Given the description of an element on the screen output the (x, y) to click on. 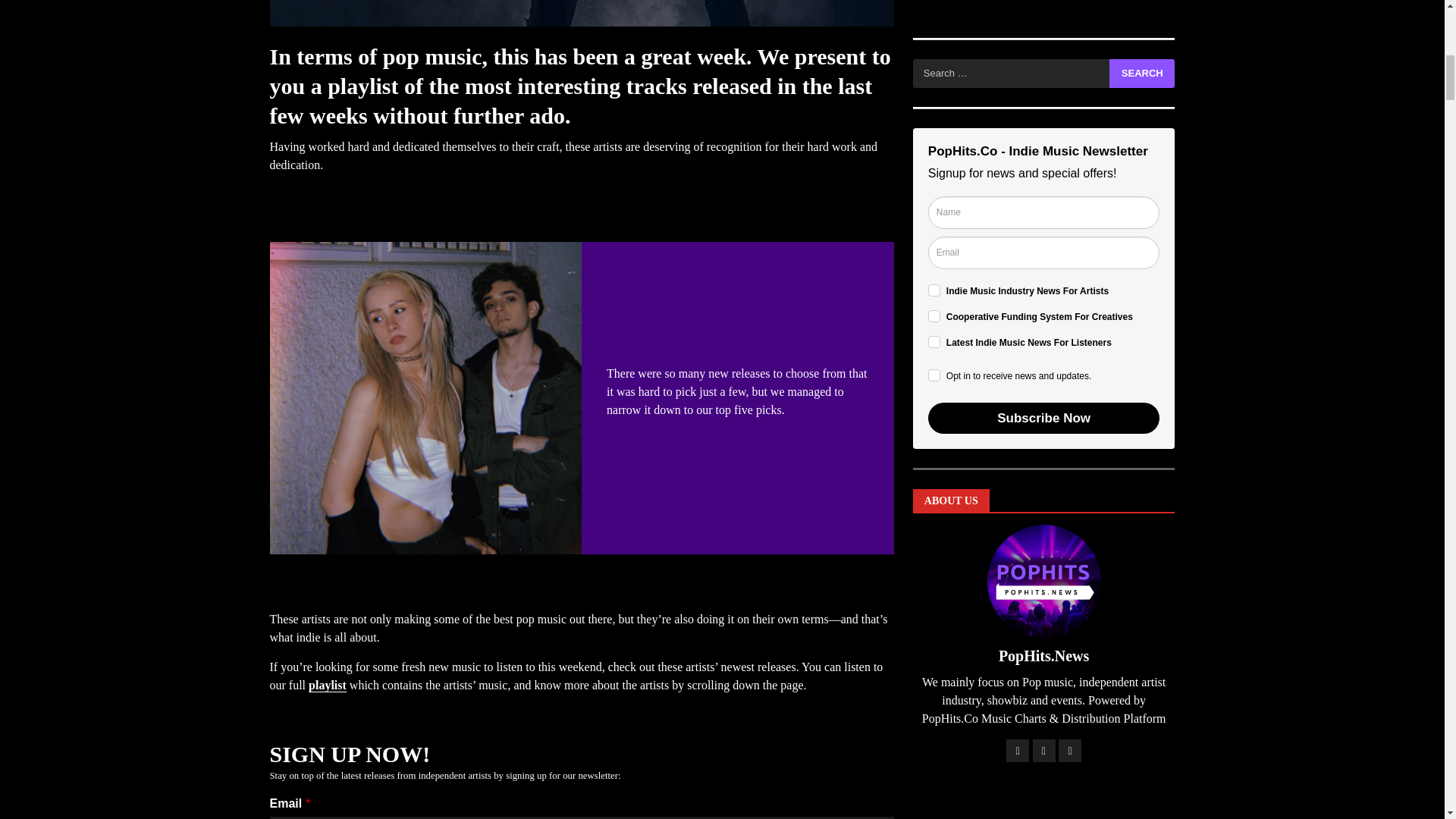
PopHits.Co - Dynamic Music Distribution (1043, 366)
